Given the description of an element on the screen output the (x, y) to click on. 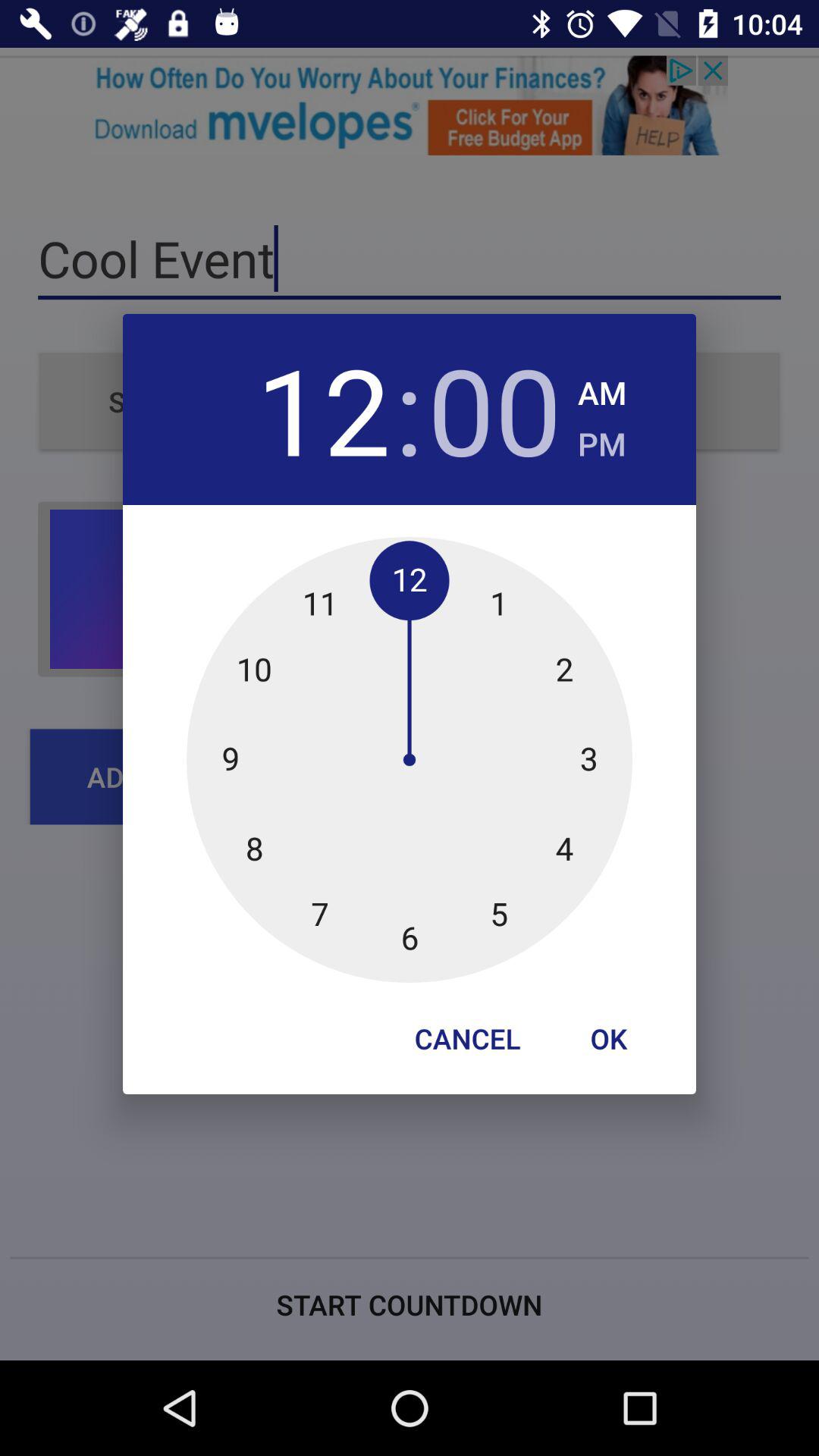
click the item next to : app (494, 408)
